Given the description of an element on the screen output the (x, y) to click on. 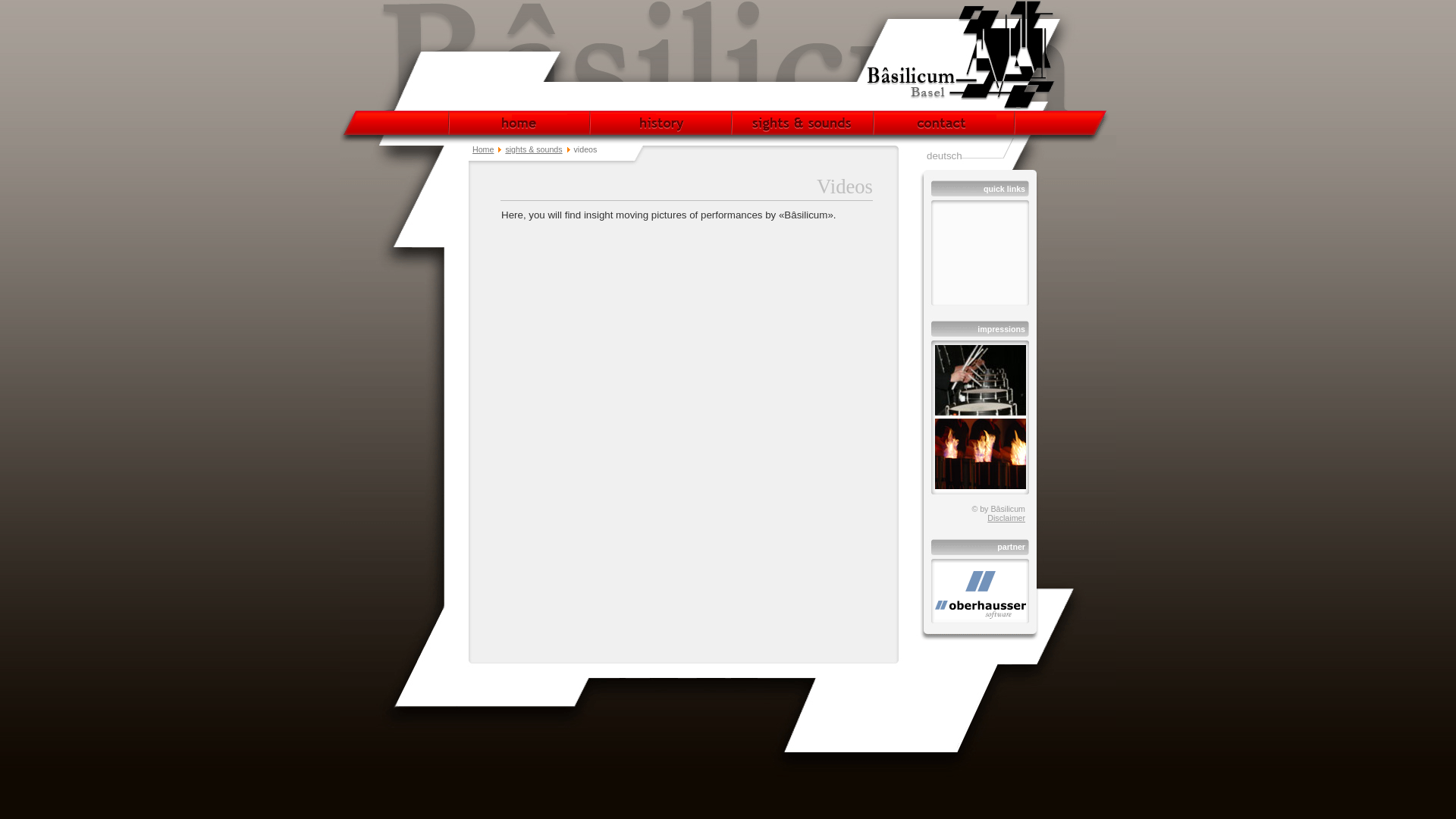
sights & sounds Element type: text (533, 148)
Disclaimer Element type: text (1006, 517)
deutsch Element type: text (944, 155)
Home Element type: text (482, 148)
